Given the description of an element on the screen output the (x, y) to click on. 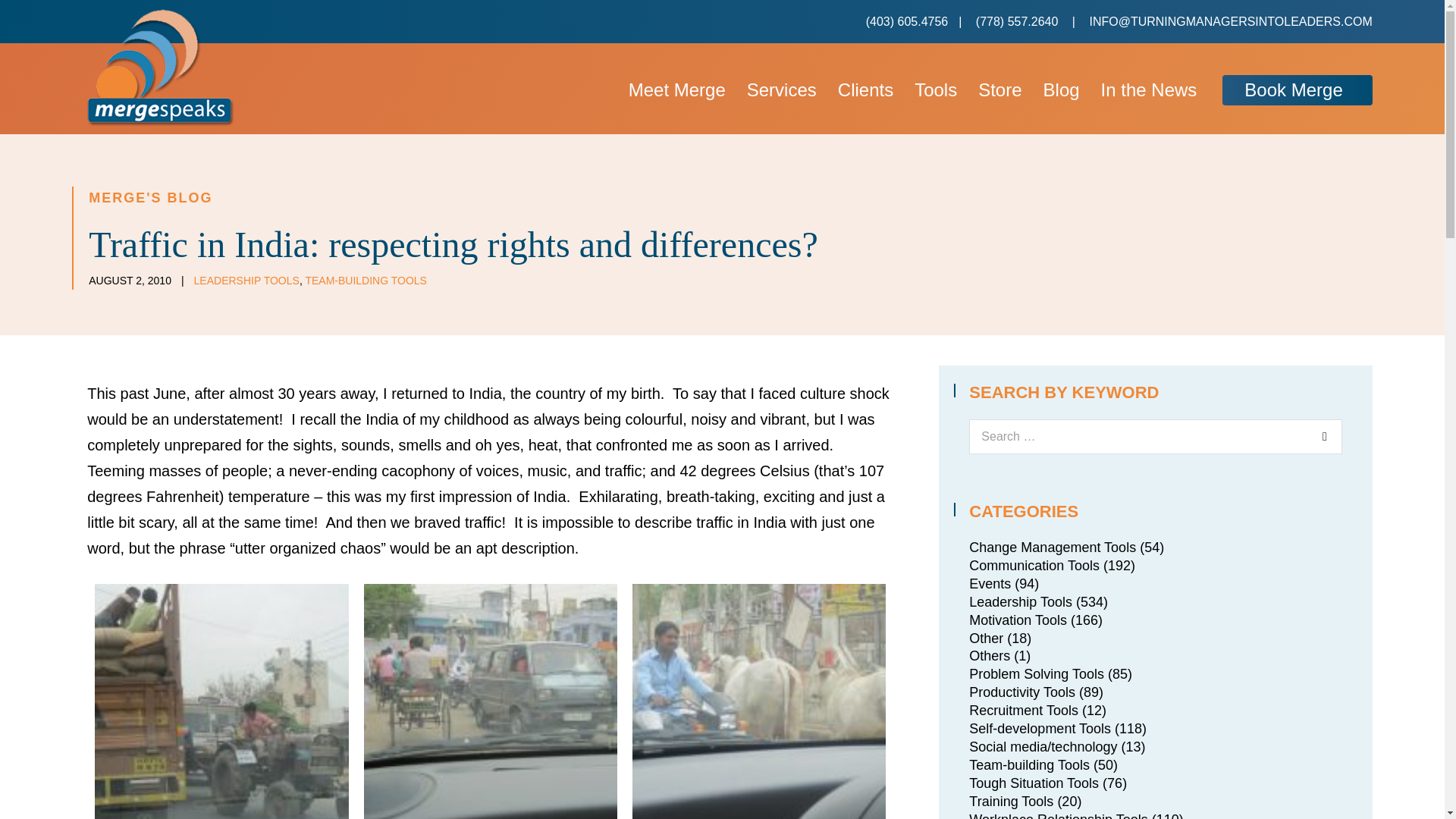
LEADERSHIP TOOLS (246, 280)
merge-speaks-logo (160, 67)
Tools (936, 90)
Clients (865, 90)
Press enter to search (1154, 436)
Book Merge (1296, 90)
In the News (1149, 90)
Blog (1061, 90)
Store (1000, 90)
Services (781, 90)
Meet Merge (676, 90)
TEAM-BUILDING TOOLS (365, 280)
